Given the description of an element on the screen output the (x, y) to click on. 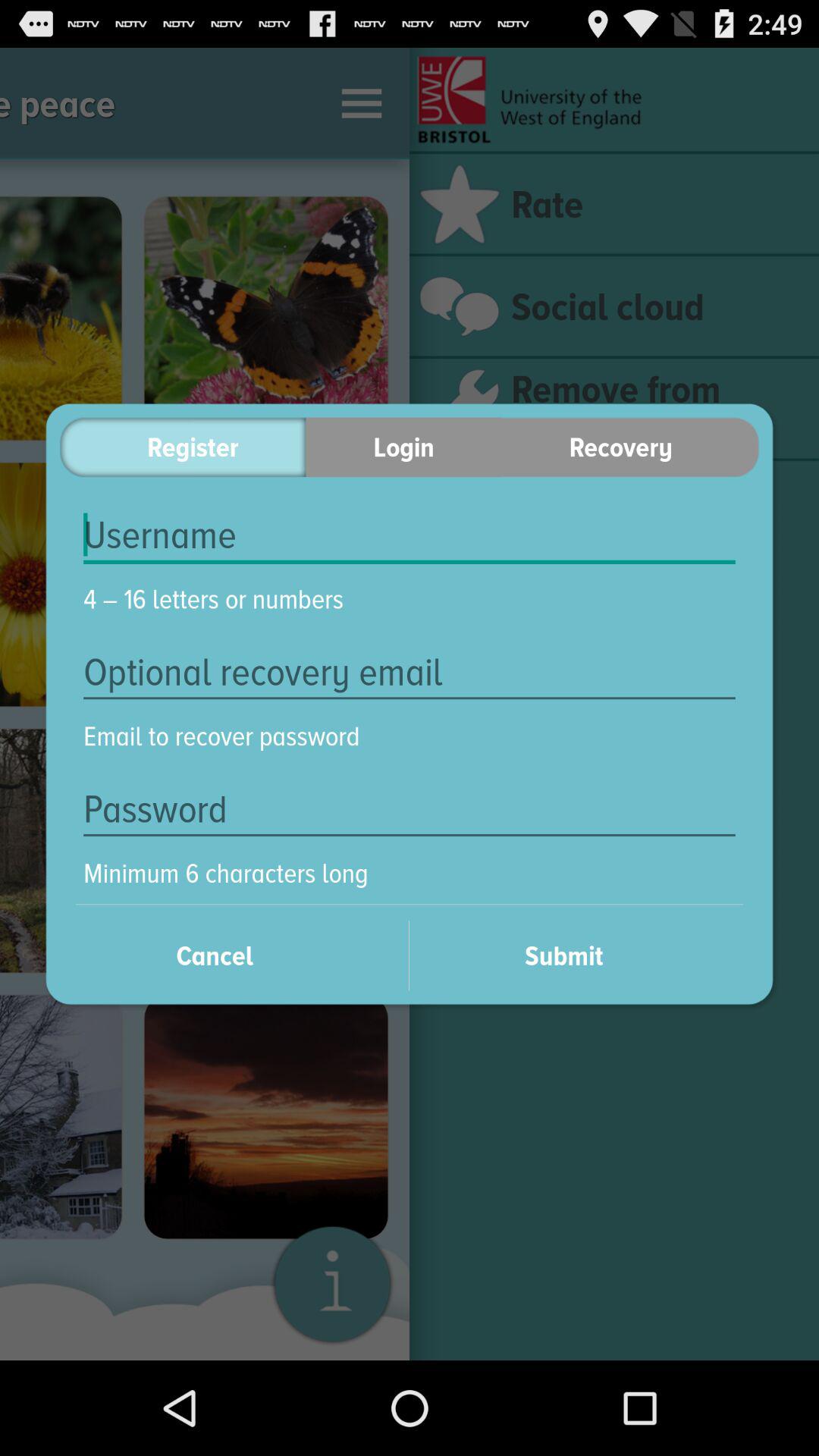
swipe until the register (182, 447)
